Given the description of an element on the screen output the (x, y) to click on. 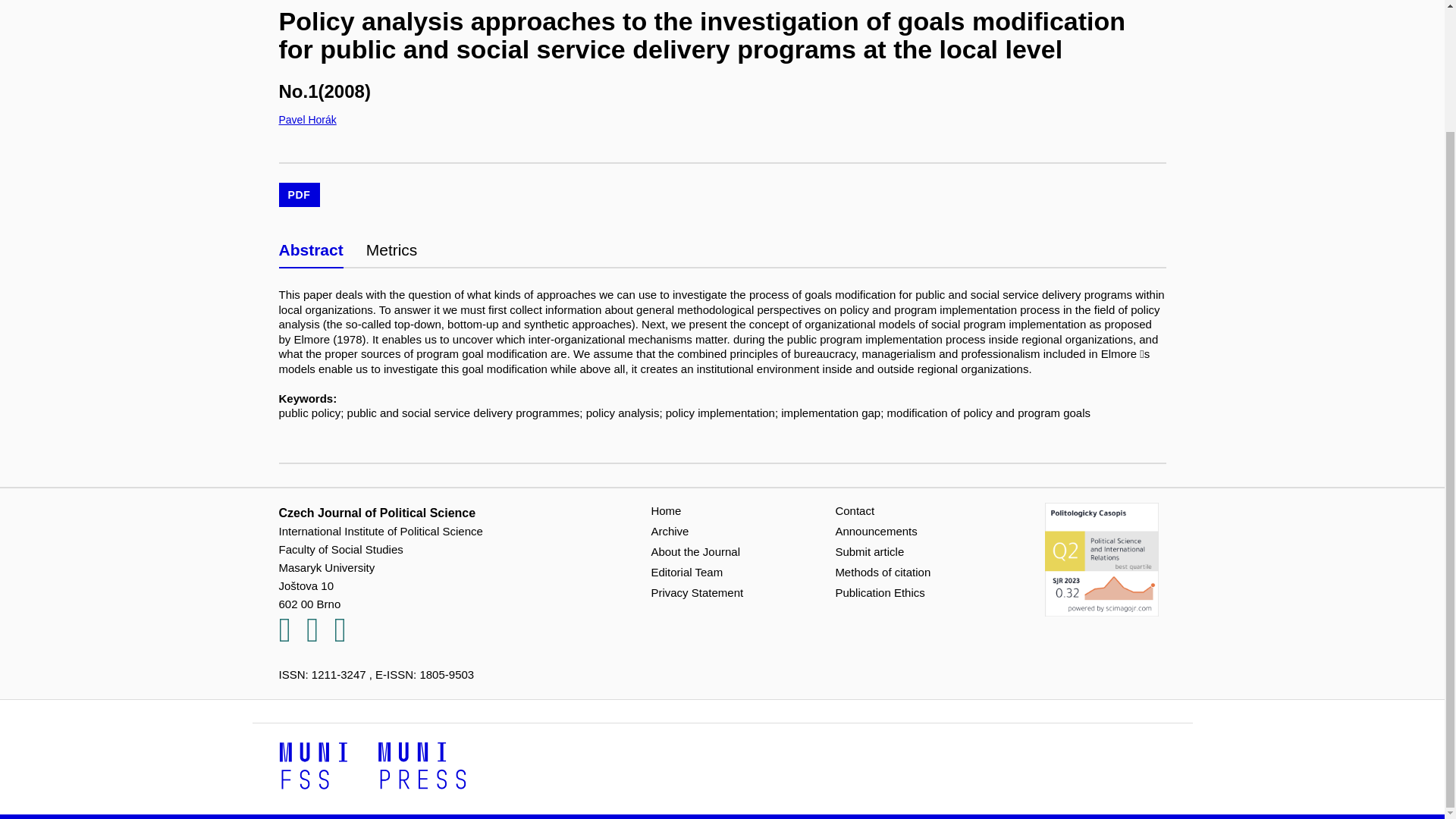
Facebook (292, 636)
Metrics (391, 249)
Twitter (347, 636)
Abstract (311, 249)
LinkedIn (319, 636)
PDF (299, 196)
